Given the description of an element on the screen output the (x, y) to click on. 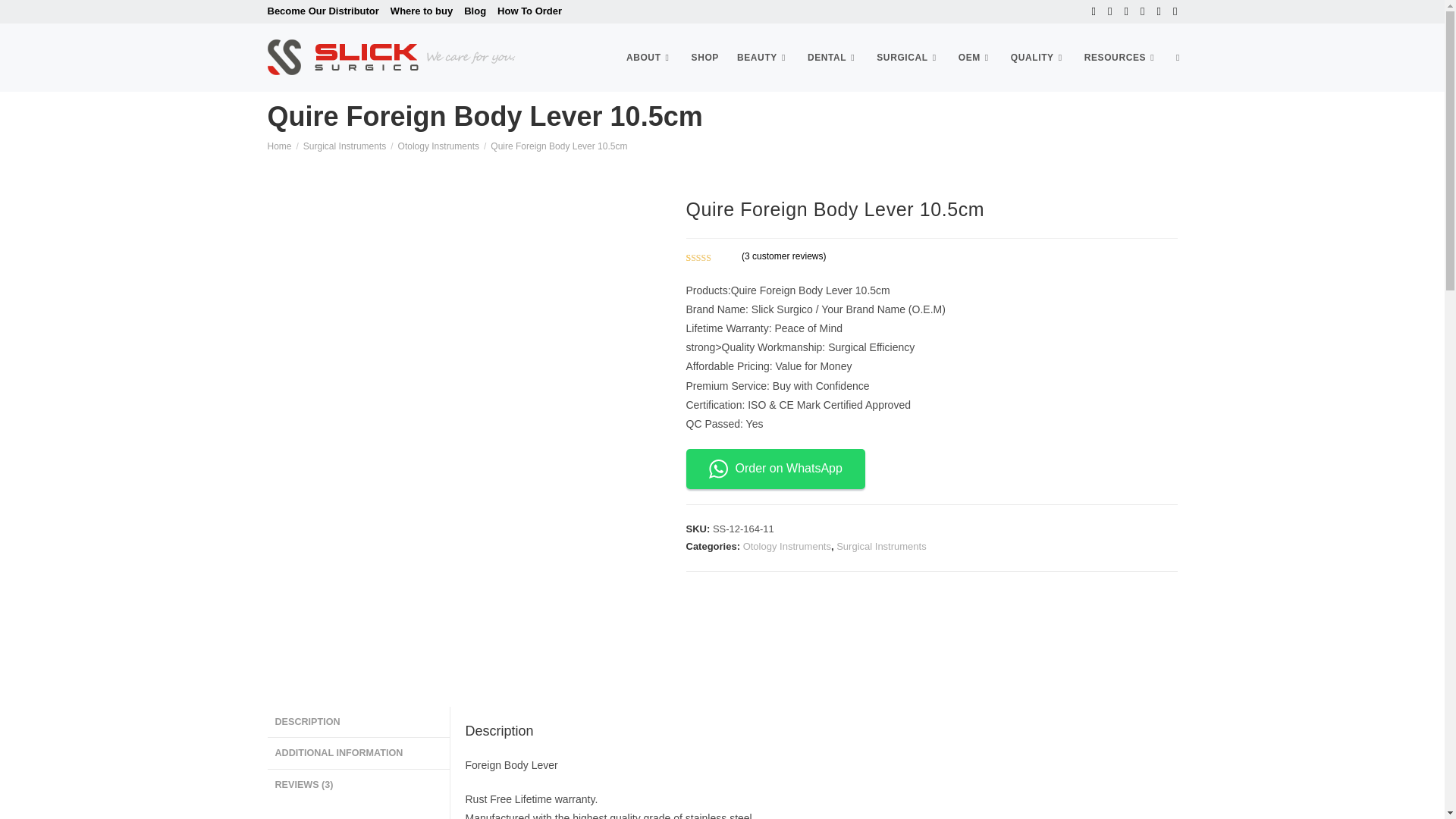
BEAUTY (762, 56)
Where to buy (421, 11)
How To Order (529, 11)
ABOUT (649, 56)
Become Our Distributor (322, 11)
Blog (475, 11)
Surgical Instruments (908, 56)
